Given the description of an element on the screen output the (x, y) to click on. 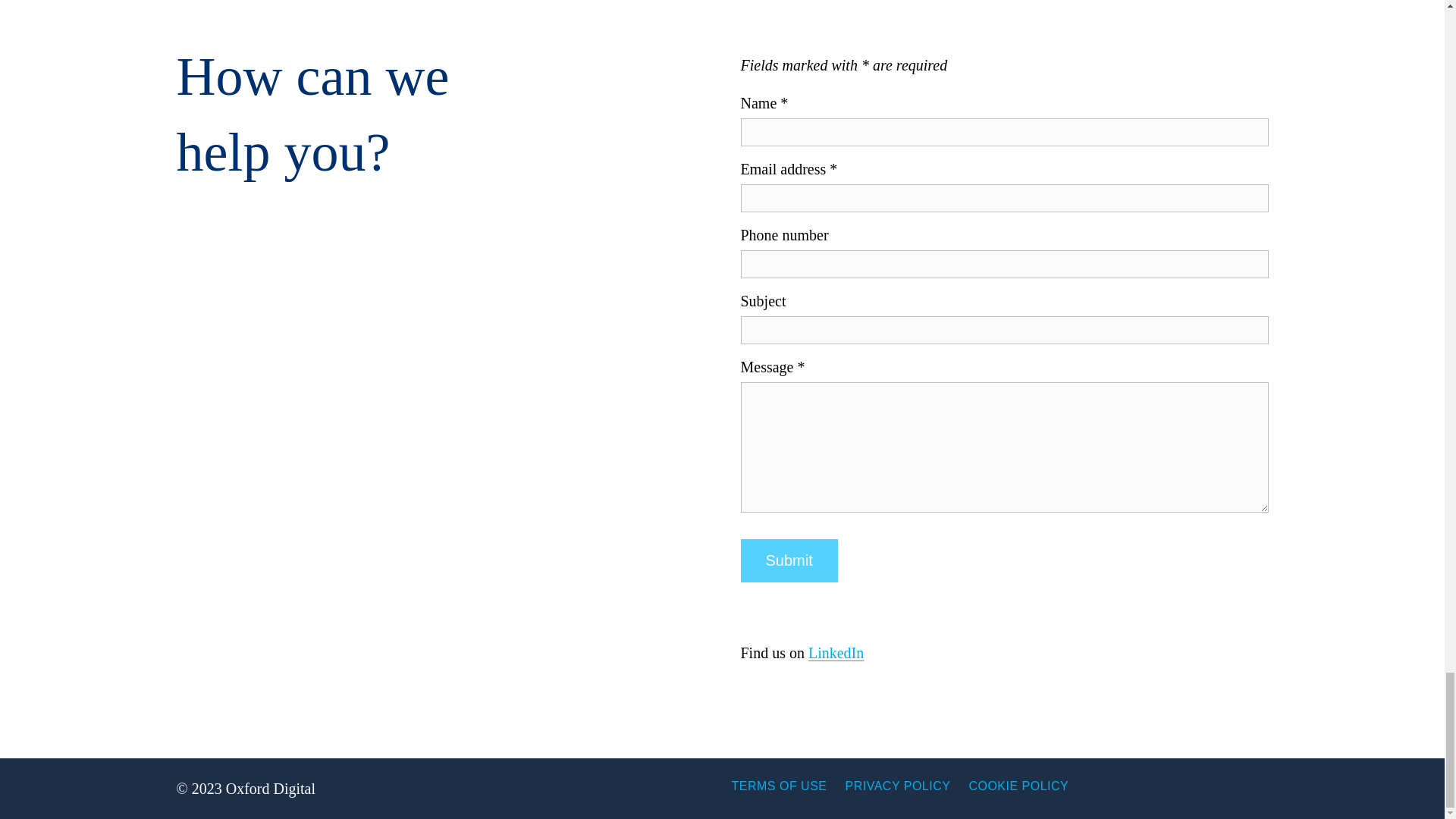
COOKIE POLICY (1018, 786)
PRIVACY POLICY (897, 786)
TERMS OF USE (778, 786)
LinkedIn (835, 652)
Submit (788, 560)
